Given the description of an element on the screen output the (x, y) to click on. 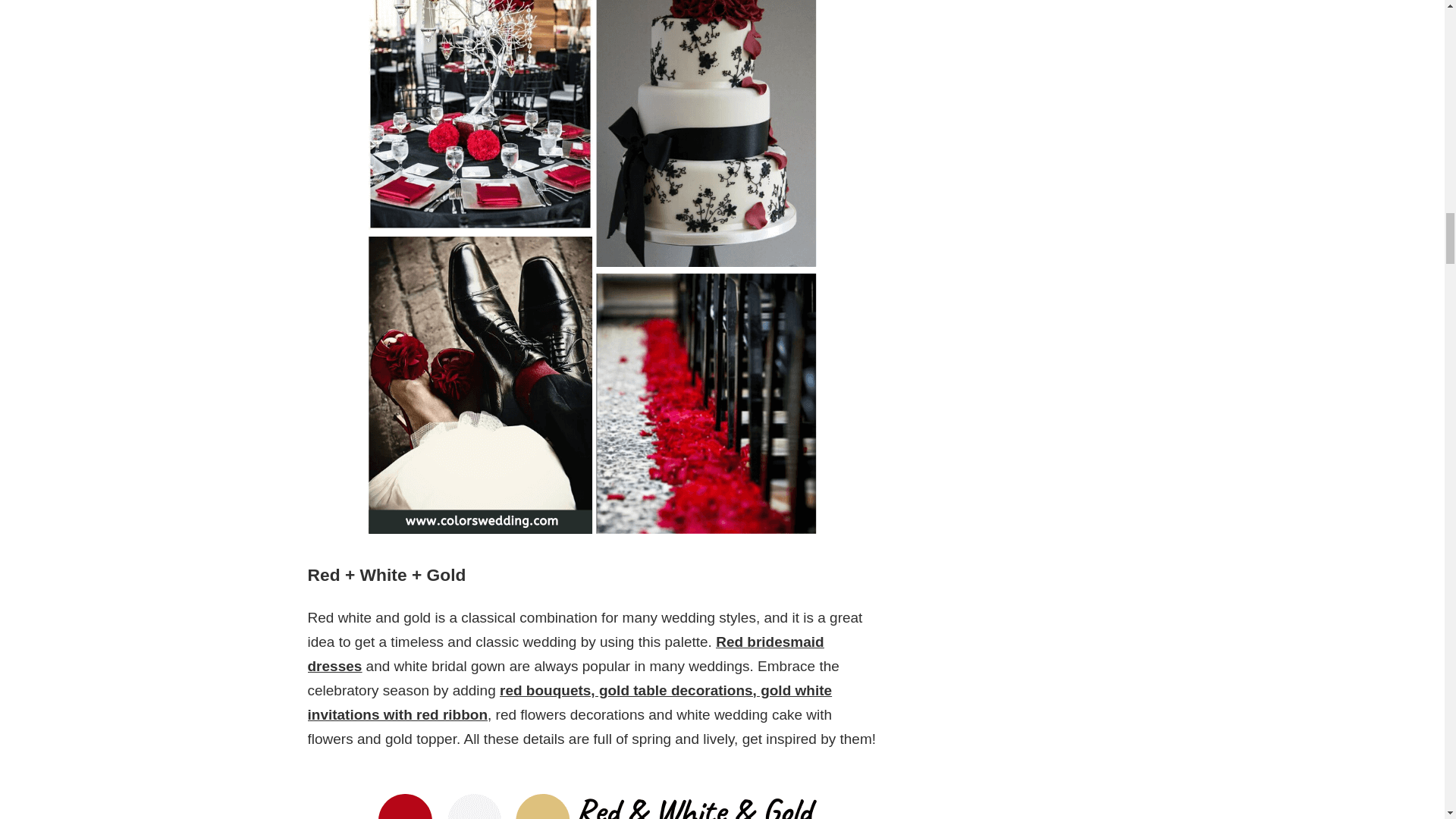
Red bridesmaid dresses (565, 653)
